Given the description of an element on the screen output the (x, y) to click on. 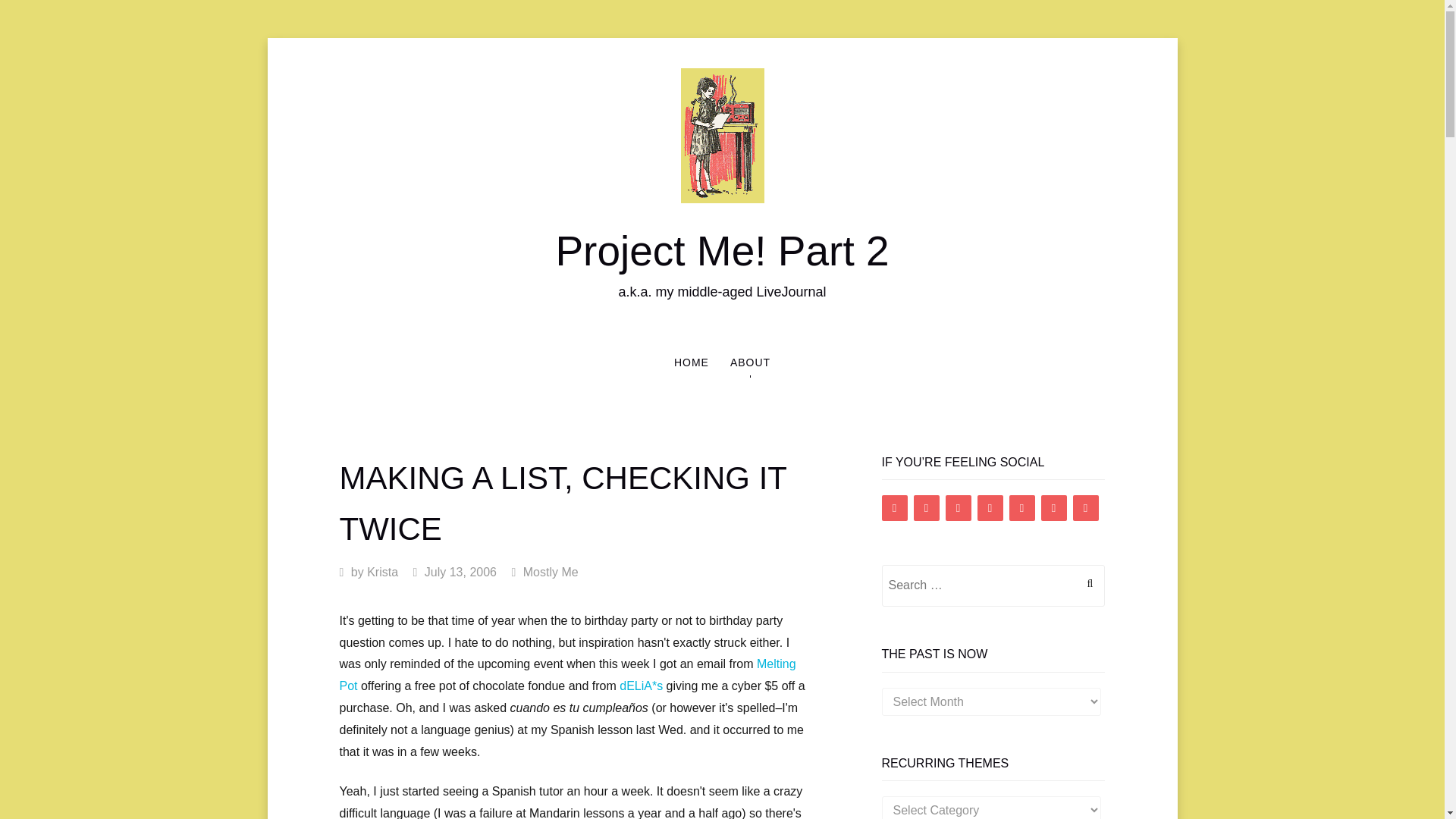
HOME (691, 362)
Mostly Me (550, 571)
Project Me! Part 2 (722, 133)
Melting Pot (567, 674)
ABOUT (749, 362)
Instagram (957, 507)
Project Me! Part 2 (721, 250)
Twitter (925, 507)
Contact (1053, 507)
Flickr (1021, 507)
Pinterest (989, 507)
July 13, 2006 (460, 571)
RSS (1084, 507)
Krista (381, 571)
Project Me! Part 2 (721, 250)
